Given the description of an element on the screen output the (x, y) to click on. 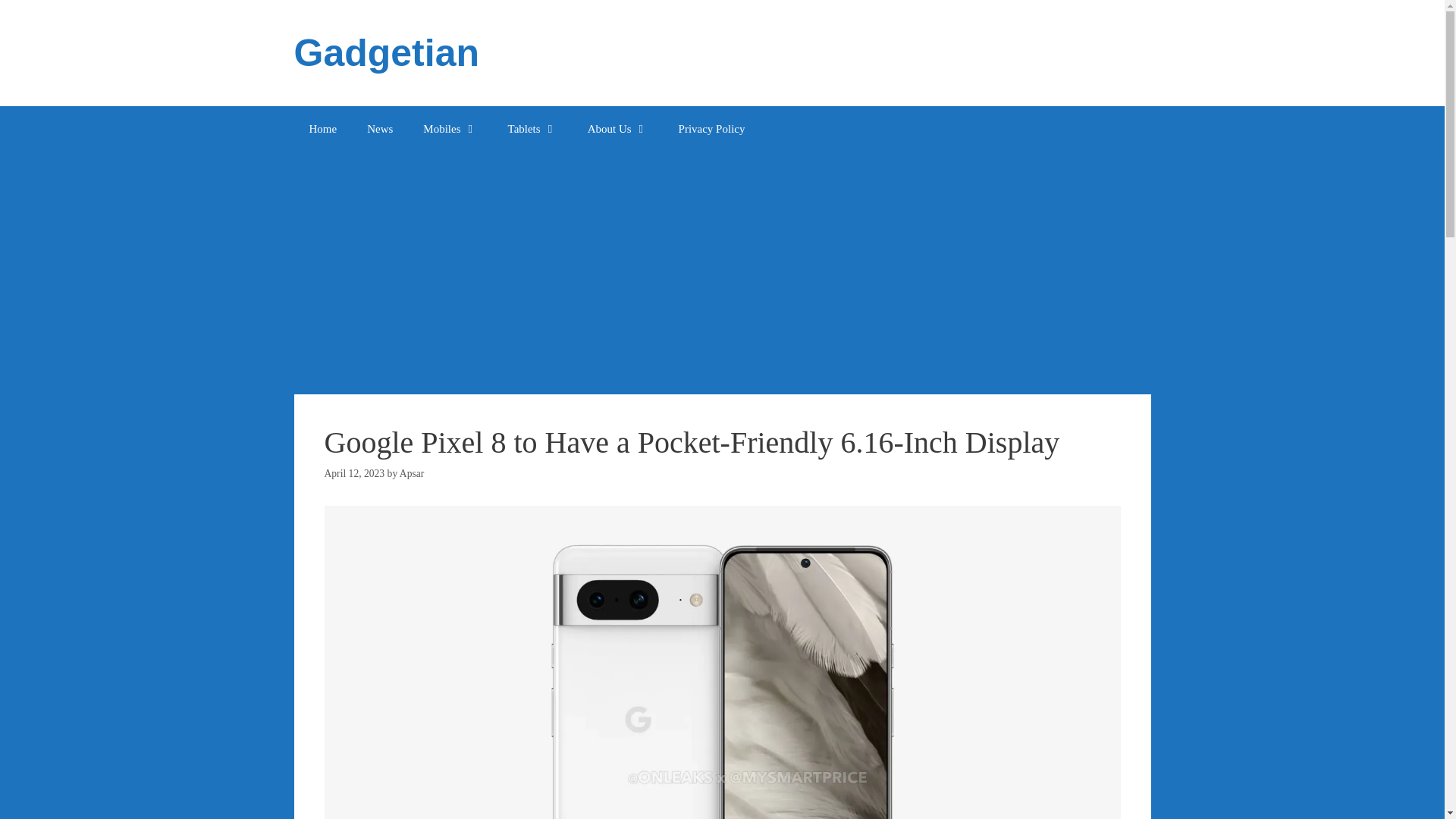
Mobiles (449, 128)
About Us (617, 128)
Tablets (532, 128)
View all posts by Apsar (410, 473)
News (379, 128)
Home (323, 128)
Apsar (410, 473)
Privacy Policy (711, 128)
Gadgetian (386, 52)
